Given the description of an element on the screen output the (x, y) to click on. 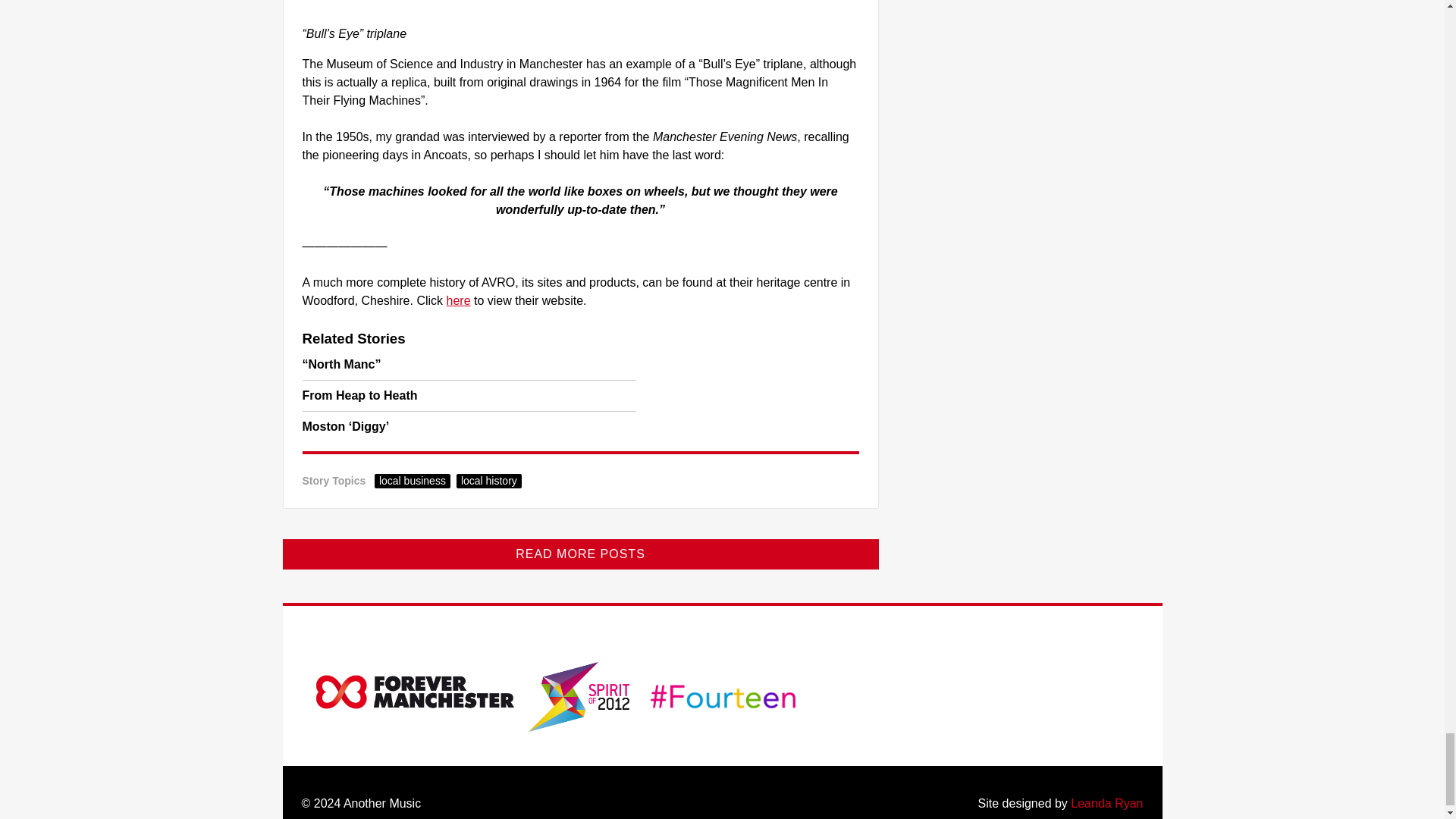
local history (489, 481)
From Heap to Heath (358, 395)
READ MORE POSTS (579, 553)
local business (411, 481)
here (457, 300)
